Given the description of an element on the screen output the (x, y) to click on. 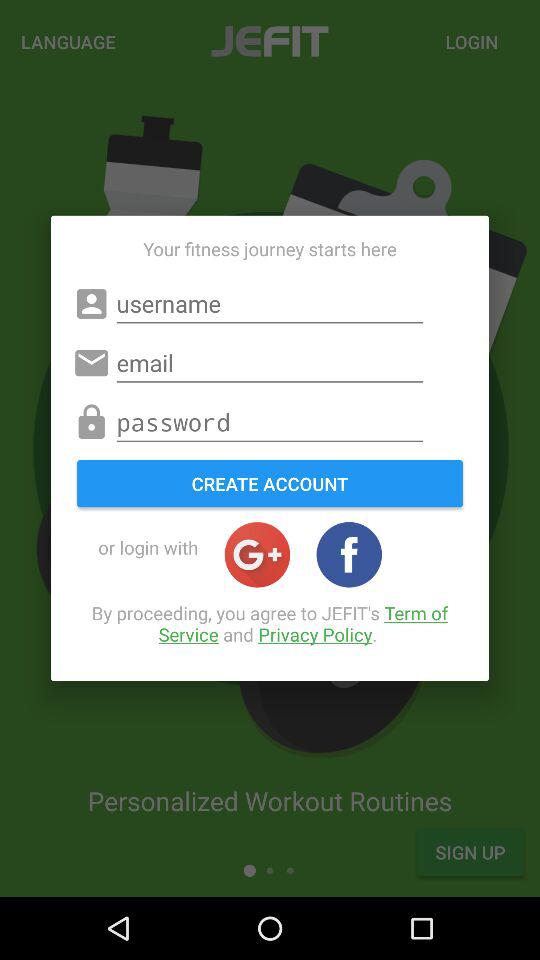
enter the password here (269, 422)
